Given the description of an element on the screen output the (x, y) to click on. 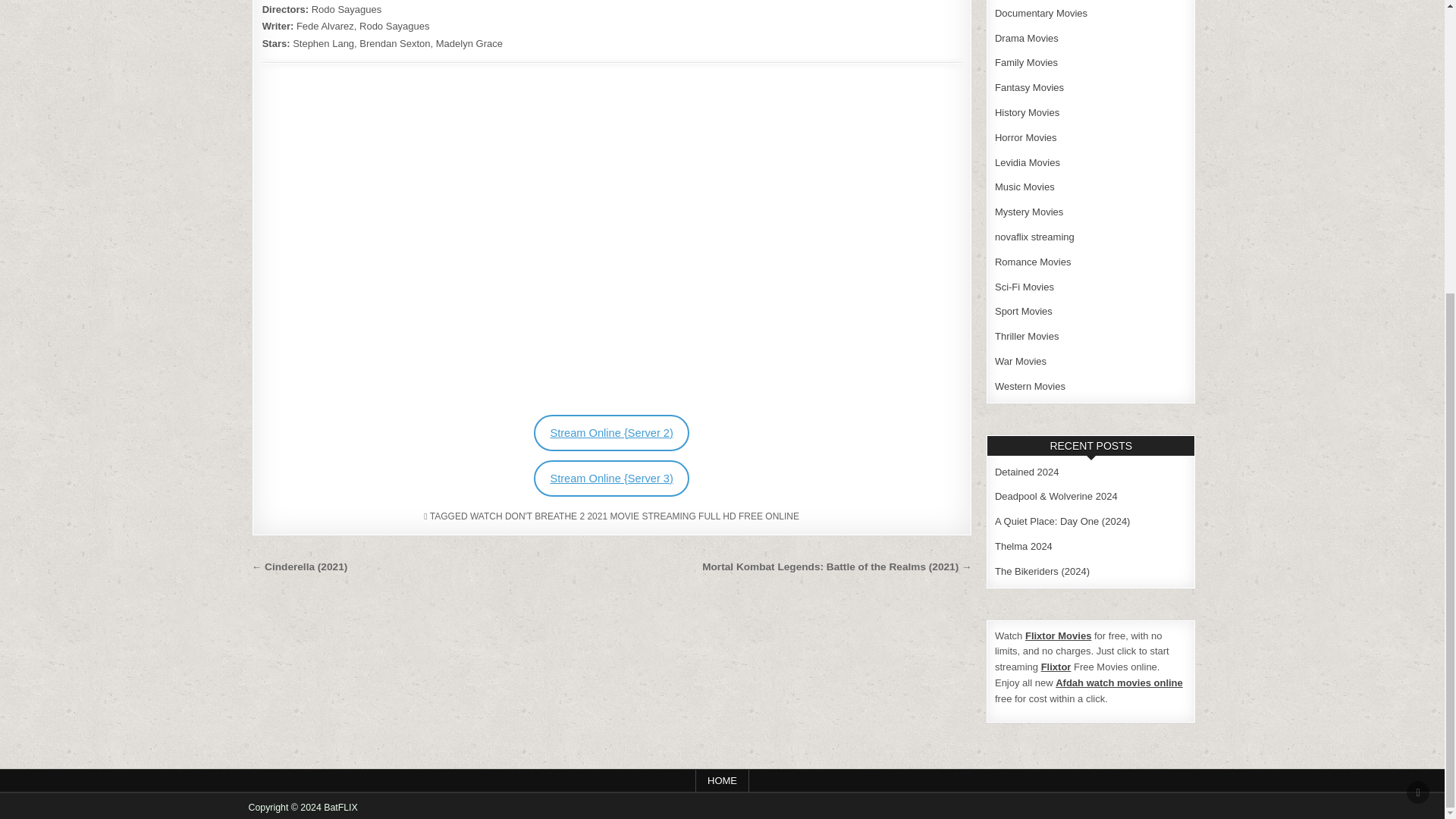
Horror Movies (1025, 137)
Scroll to Top (1417, 342)
Documentary Movies (1040, 12)
Fantasy Movies (1029, 87)
SCROLL TO TOP (1417, 342)
Family Movies (1026, 61)
History Movies (1026, 112)
Drama Movies (1026, 38)
